Given the description of an element on the screen output the (x, y) to click on. 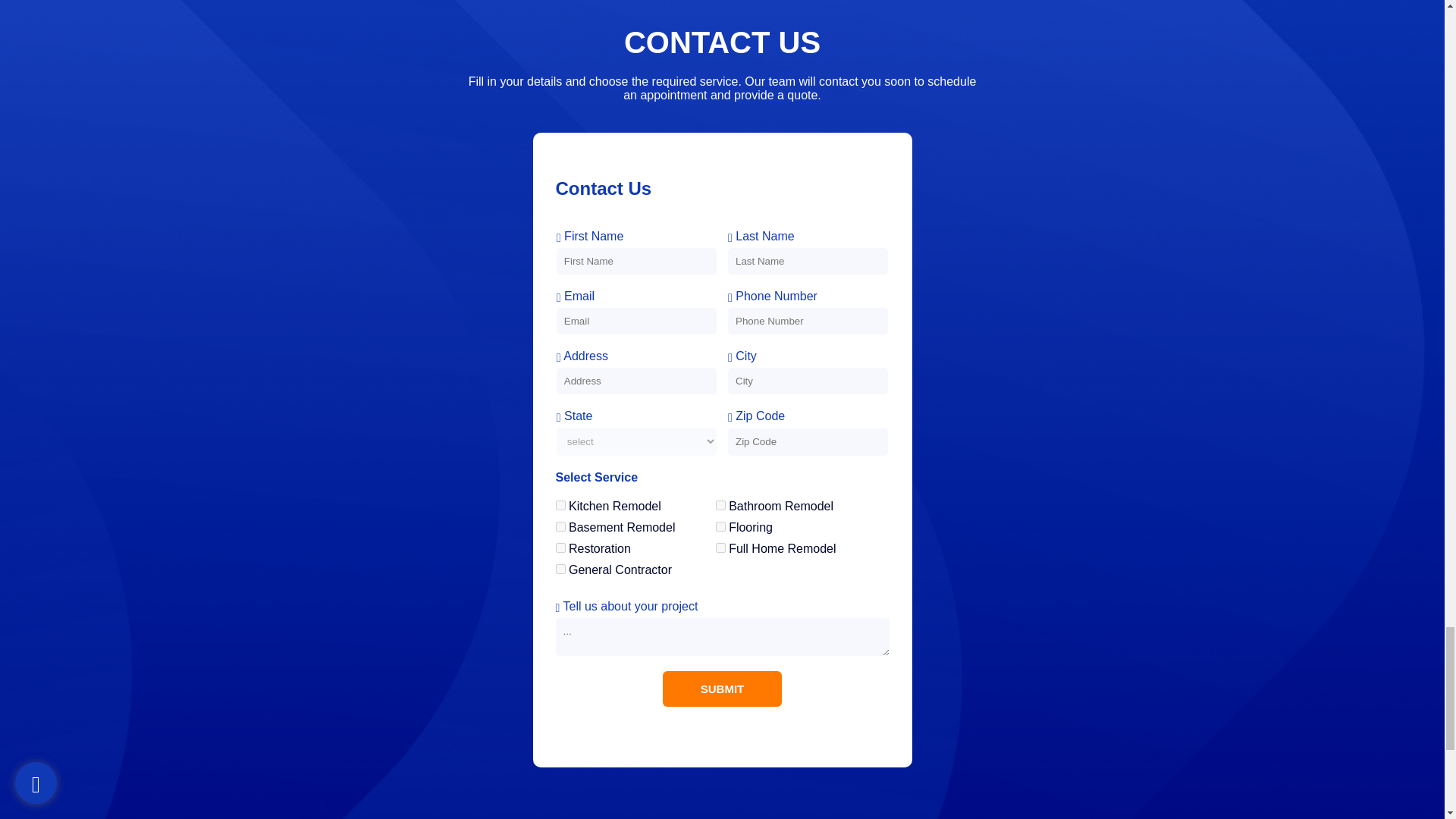
Full Home Remodel (720, 547)
Kitchen Remodel (559, 505)
General Contractor (559, 569)
Bathroom Remodel (720, 505)
Flooring (720, 526)
Restoration (559, 547)
Basement Remodel (559, 526)
